Given the description of an element on the screen output the (x, y) to click on. 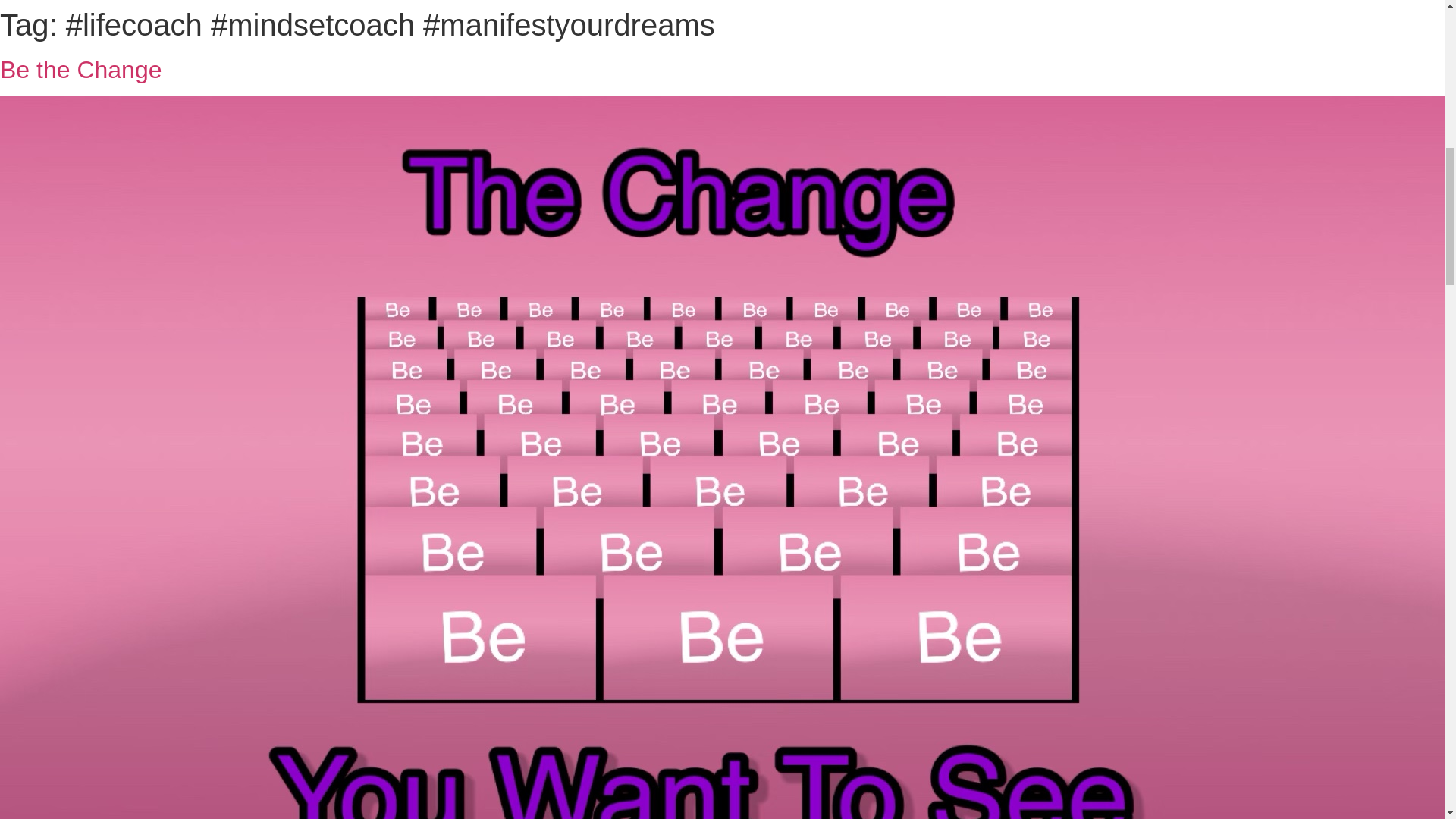
Be the Change (80, 69)
